Given the description of an element on the screen output the (x, y) to click on. 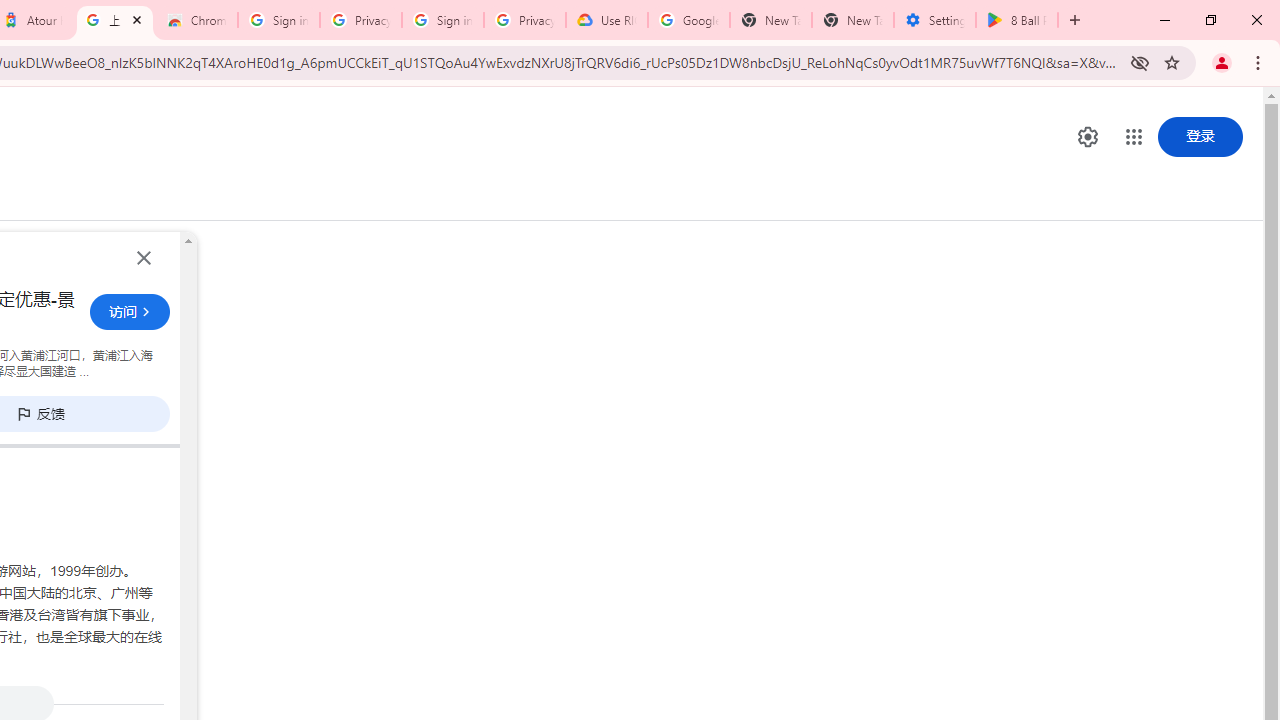
Settings - System (934, 20)
New Tab (852, 20)
Chrome Web Store - Color themes by Chrome (197, 20)
Sign in - Google Accounts (278, 20)
